Given the description of an element on the screen output the (x, y) to click on. 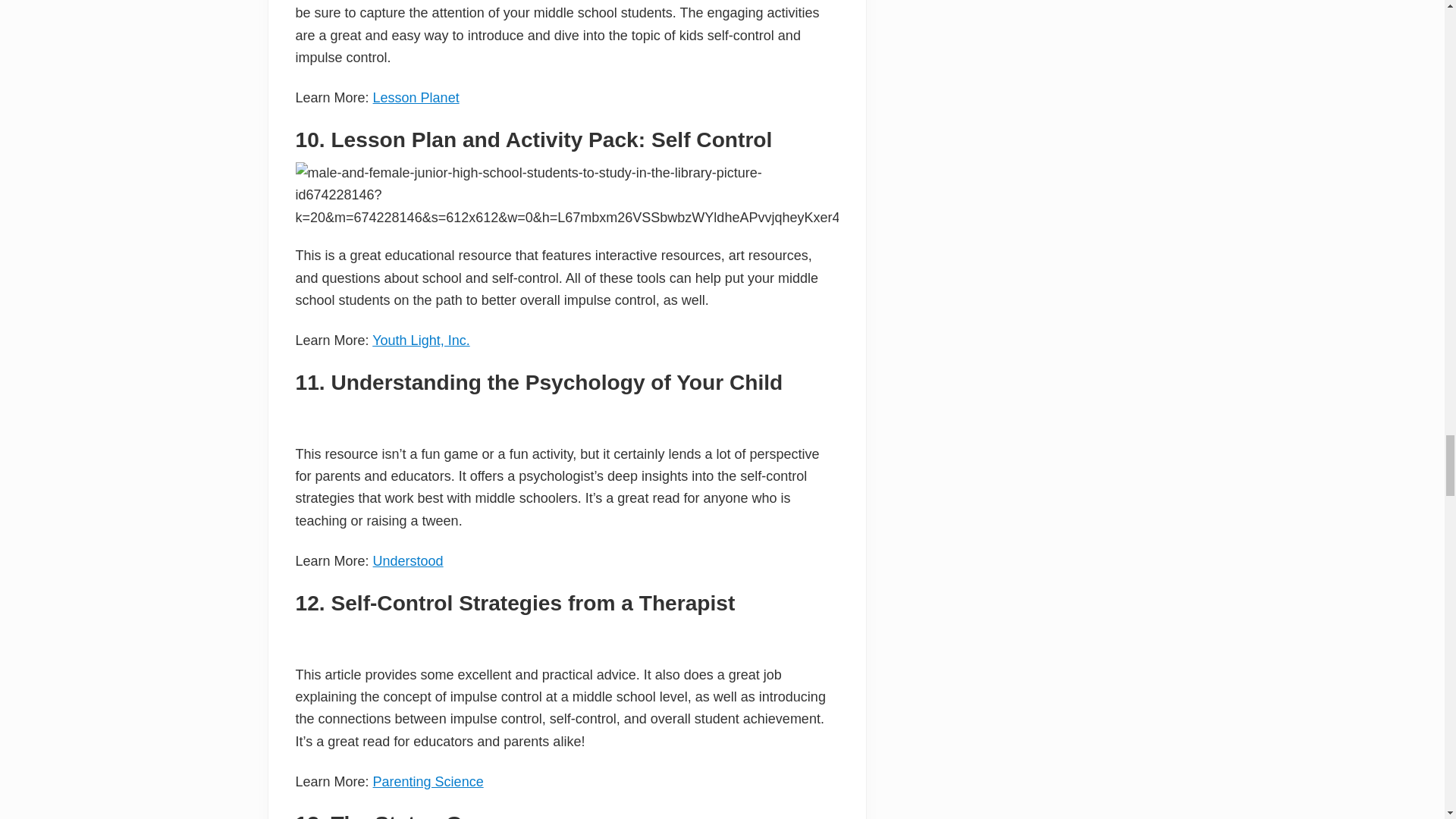
Parenting Science (427, 781)
Understood (408, 560)
Lesson Planet (416, 97)
Youth Light, Inc. (420, 340)
